Given the description of an element on the screen output the (x, y) to click on. 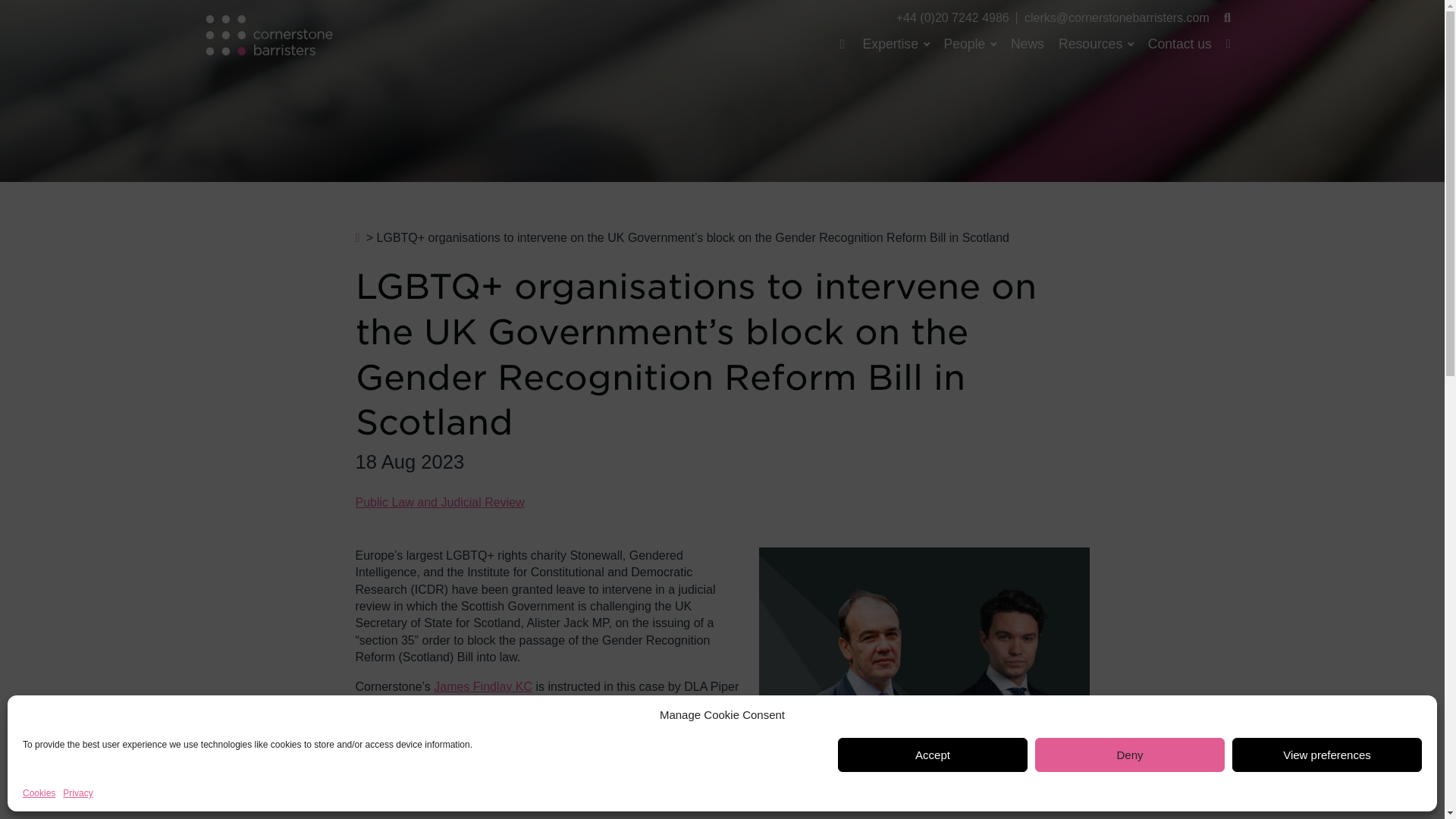
Cornerstone Barristers (267, 35)
Cookies (39, 793)
View preferences (1326, 754)
Accept (932, 754)
Privacy (77, 793)
Deny (1129, 754)
